Given the description of an element on the screen output the (x, y) to click on. 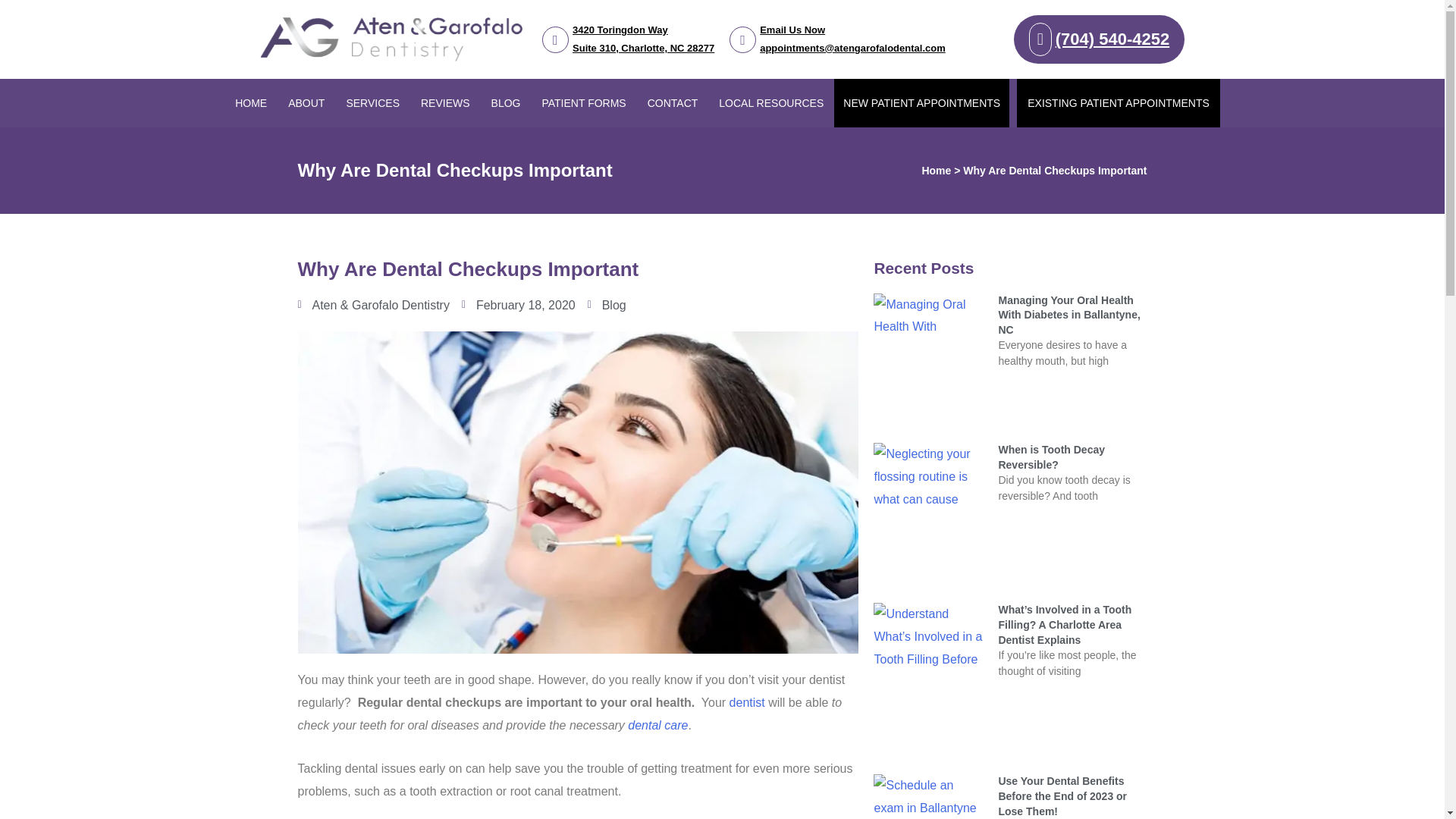
SERVICES (372, 102)
PATIENT FORMS (583, 102)
BLOG (627, 39)
REVIEWS (505, 102)
ABOUT (445, 102)
HOME (306, 102)
